Given the description of an element on the screen output the (x, y) to click on. 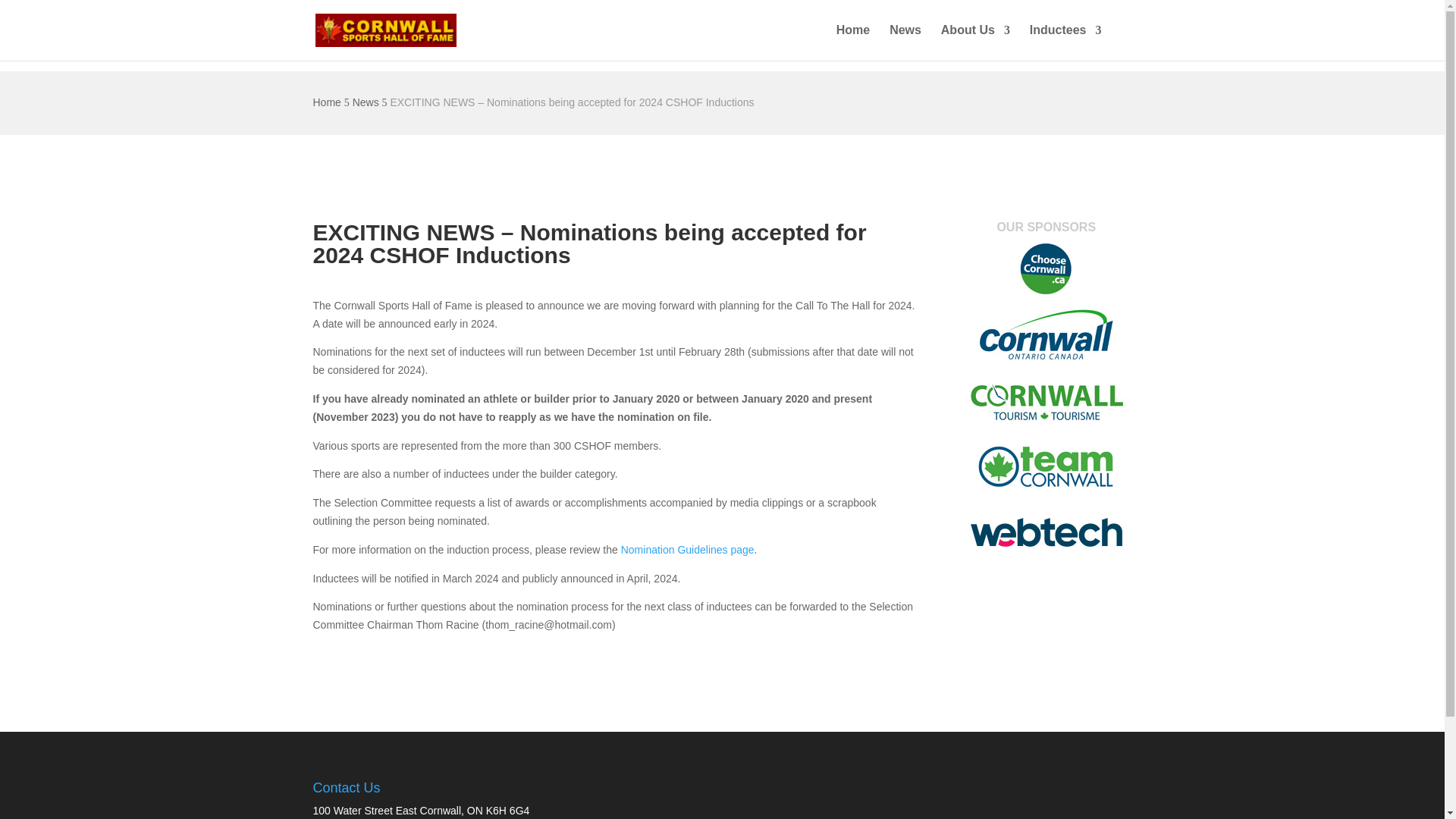
Inductees (1065, 42)
About Us (975, 42)
Home (326, 102)
Home (852, 42)
News (905, 42)
